Given the description of an element on the screen output the (x, y) to click on. 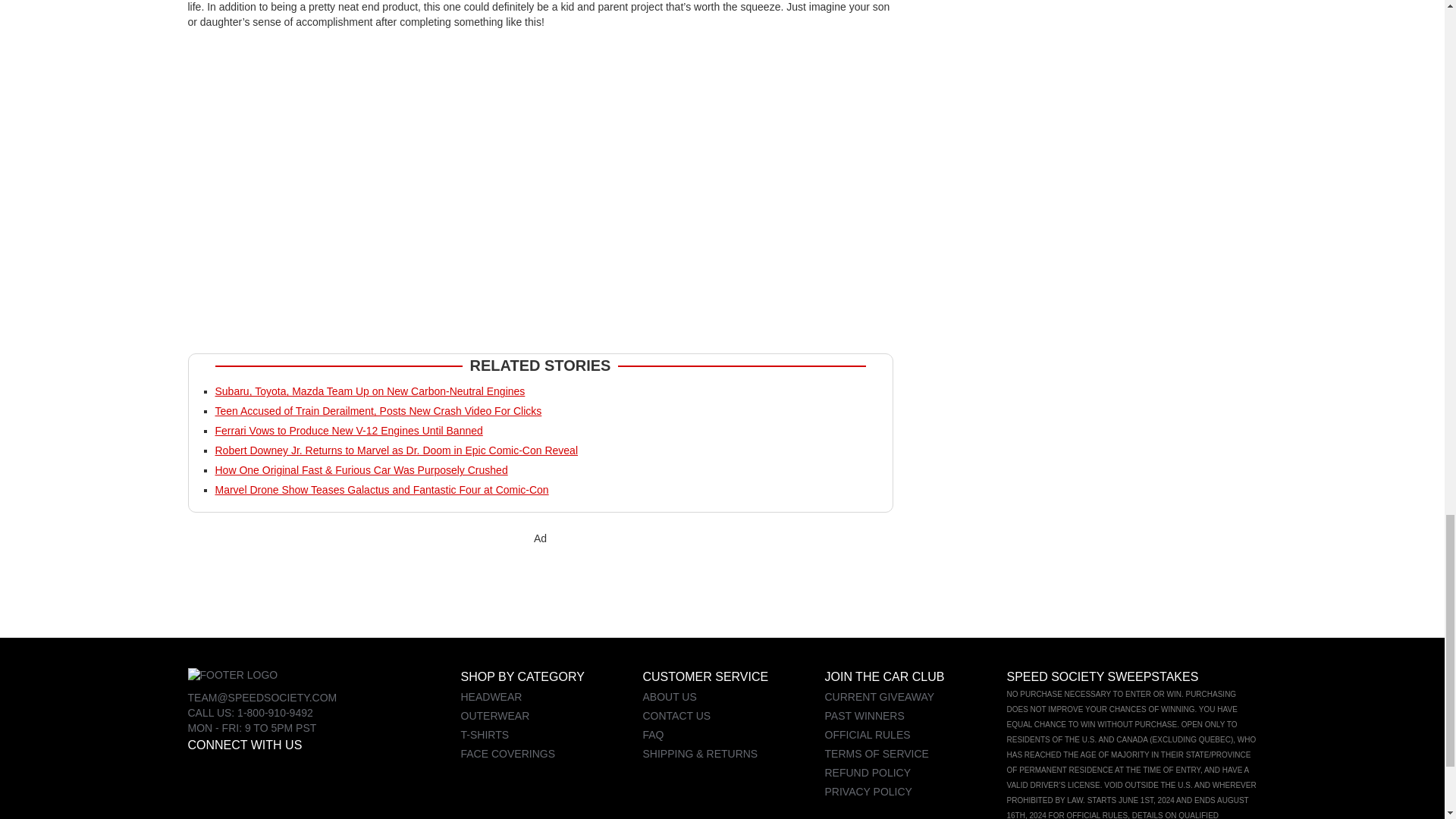
footer logo (232, 675)
Subaru, Toyota, Mazda Team Up on New Carbon-Neutral Engines (370, 390)
